Given the description of an element on the screen output the (x, y) to click on. 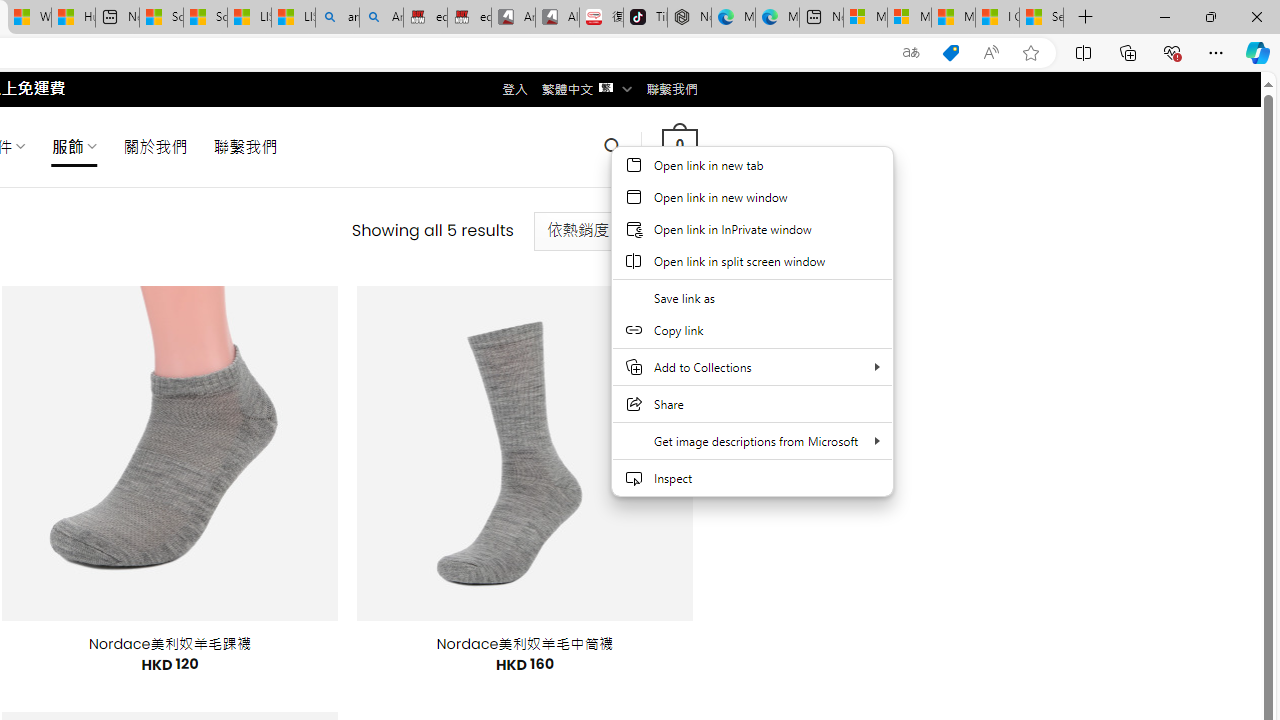
Get image descriptions from Microsoft (752, 440)
Open link in split screen window (752, 260)
Web context (752, 321)
  0   (679, 146)
Show translate options (910, 53)
This site has coupons! Shopping in Microsoft Edge (950, 53)
